Given the description of an element on the screen output the (x, y) to click on. 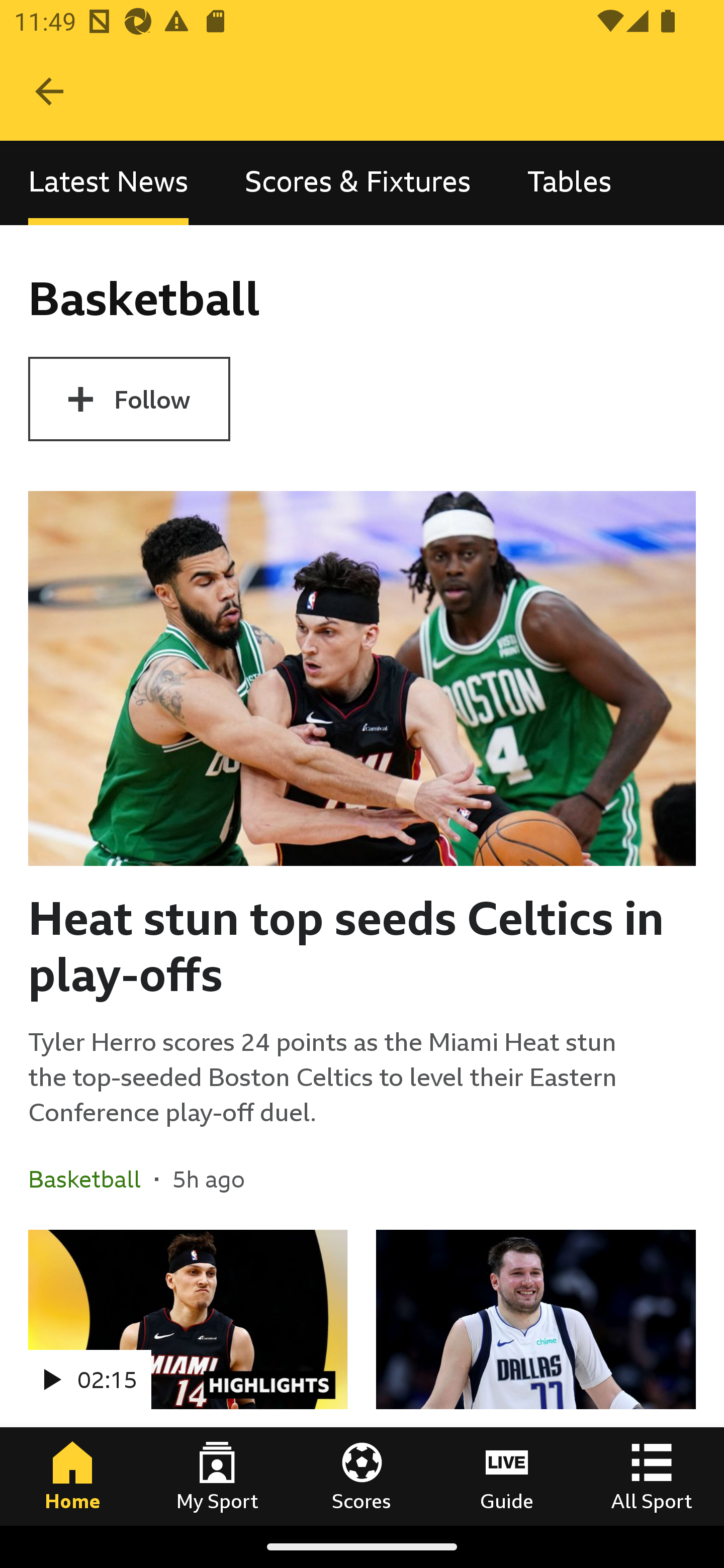
Navigate up (49, 91)
Latest News, selected Latest News (108, 183)
Scores & Fixtures (357, 183)
Tables (569, 183)
Follow Basketball Follow (129, 398)
My Sport (216, 1475)
Scores (361, 1475)
Guide (506, 1475)
All Sport (651, 1475)
